Given the description of an element on the screen output the (x, y) to click on. 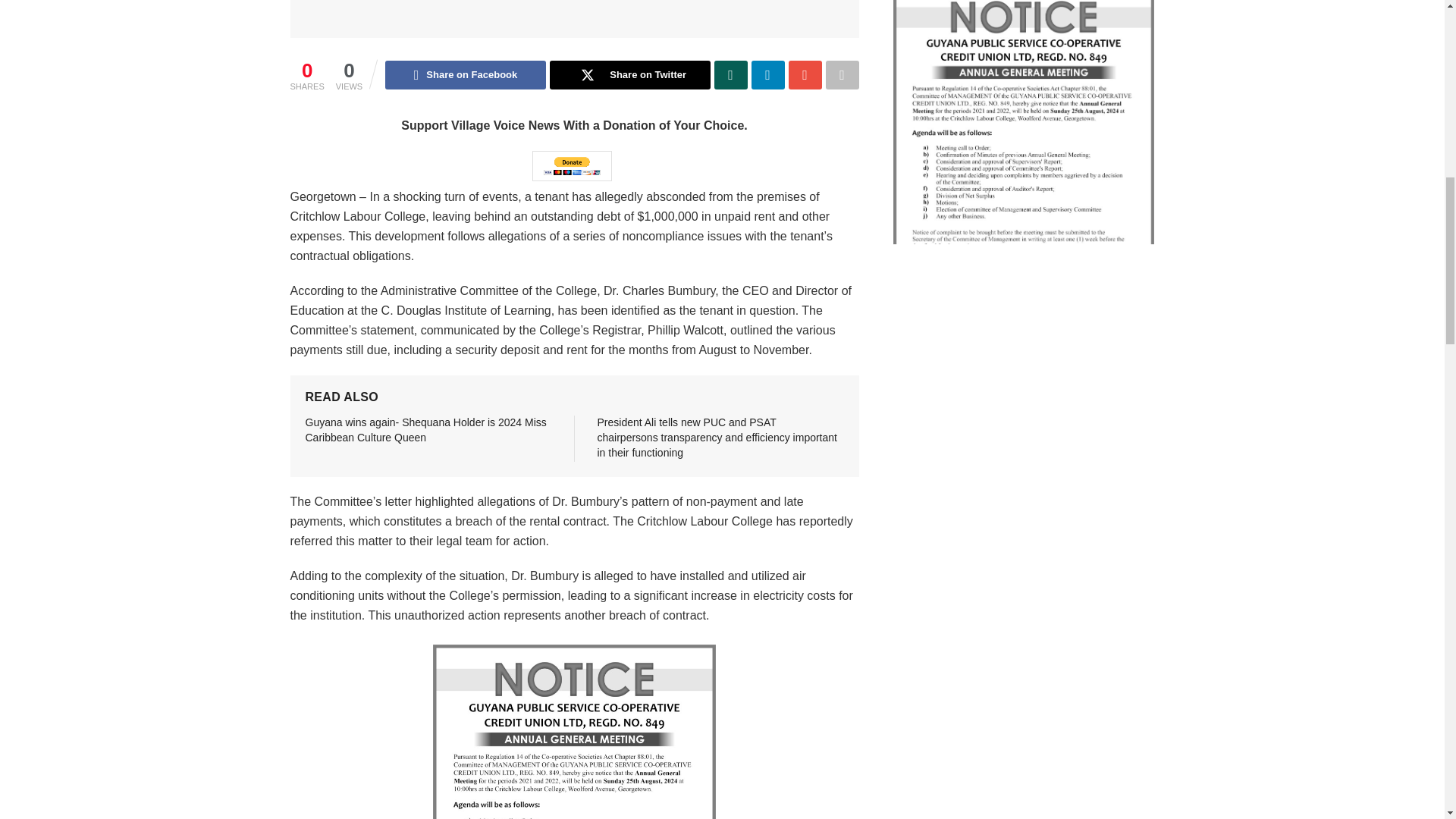
PayPal - The safer, easier way to pay online! (571, 165)
